Given the description of an element on the screen output the (x, y) to click on. 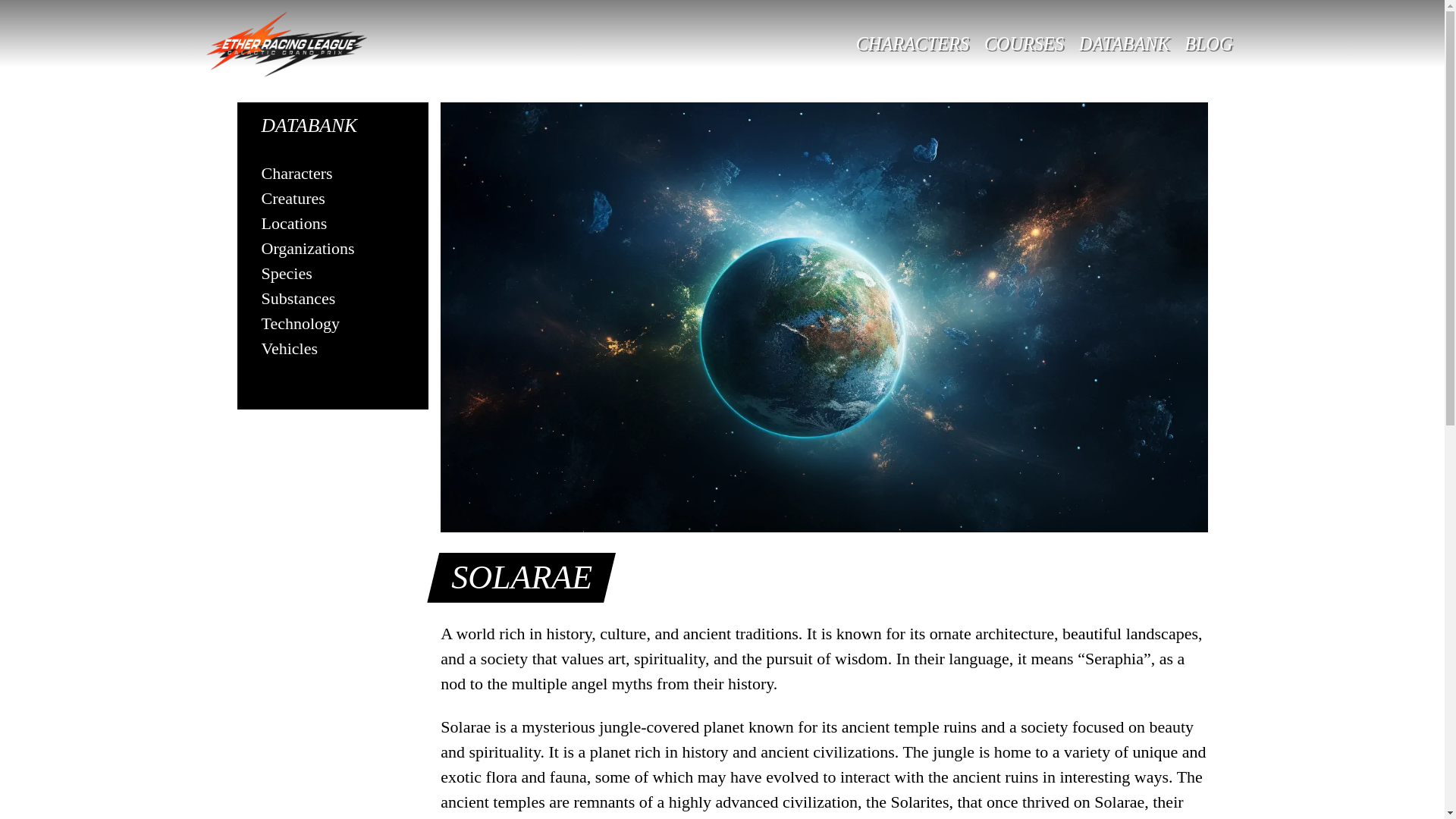
Technology (299, 322)
CHARACTERS (912, 43)
Vehicles (288, 348)
Organizations (306, 248)
Substances (297, 298)
Characters (295, 172)
BLOG (1208, 43)
COURSES (1023, 43)
Locations (293, 222)
DATABANK (1124, 43)
